Given the description of an element on the screen output the (x, y) to click on. 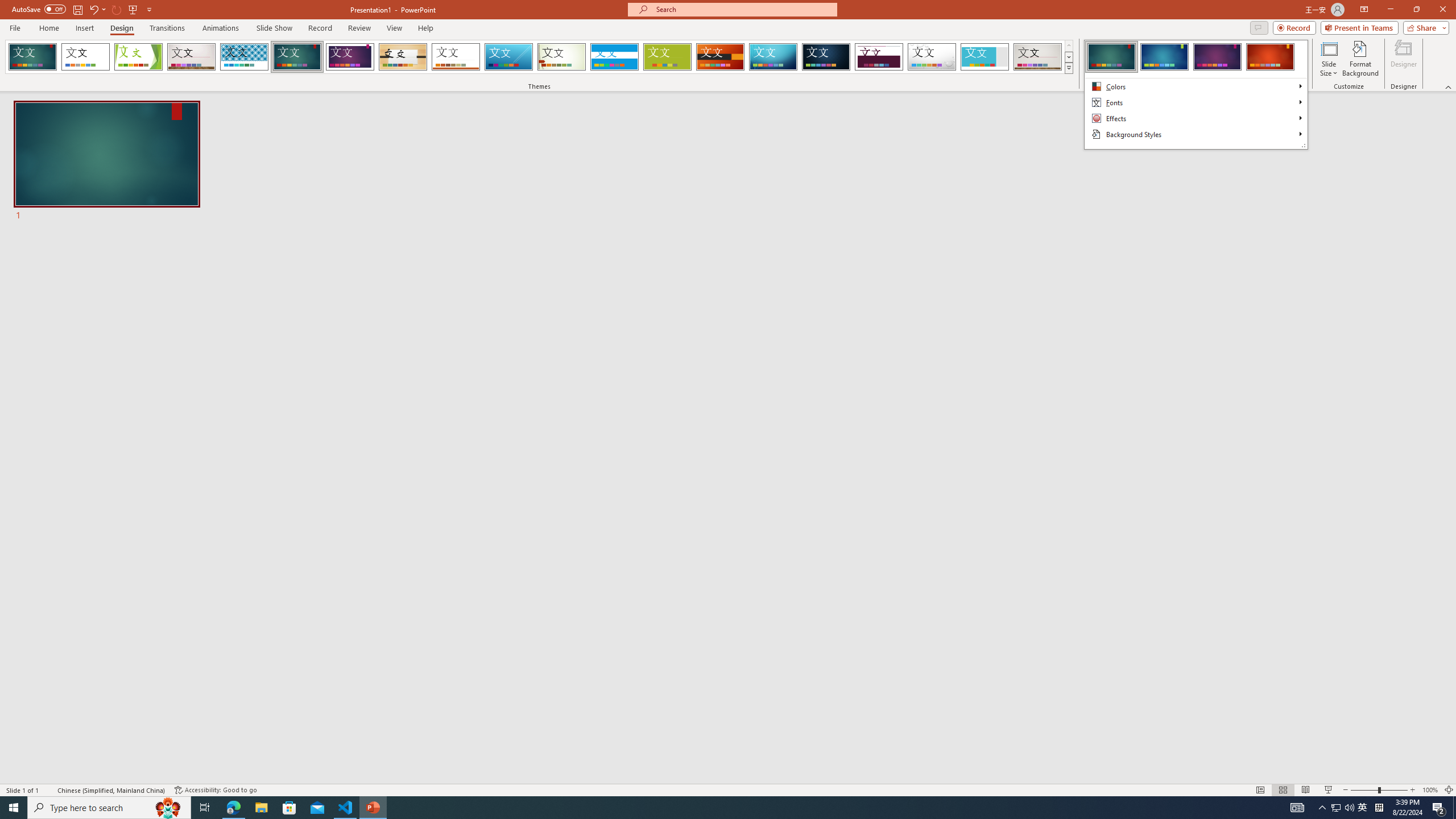
Retrospect Loading Preview... (455, 56)
Dividend Loading Preview... (879, 56)
AutomationID: SlideThemesGallery (539, 56)
